Given the description of an element on the screen output the (x, y) to click on. 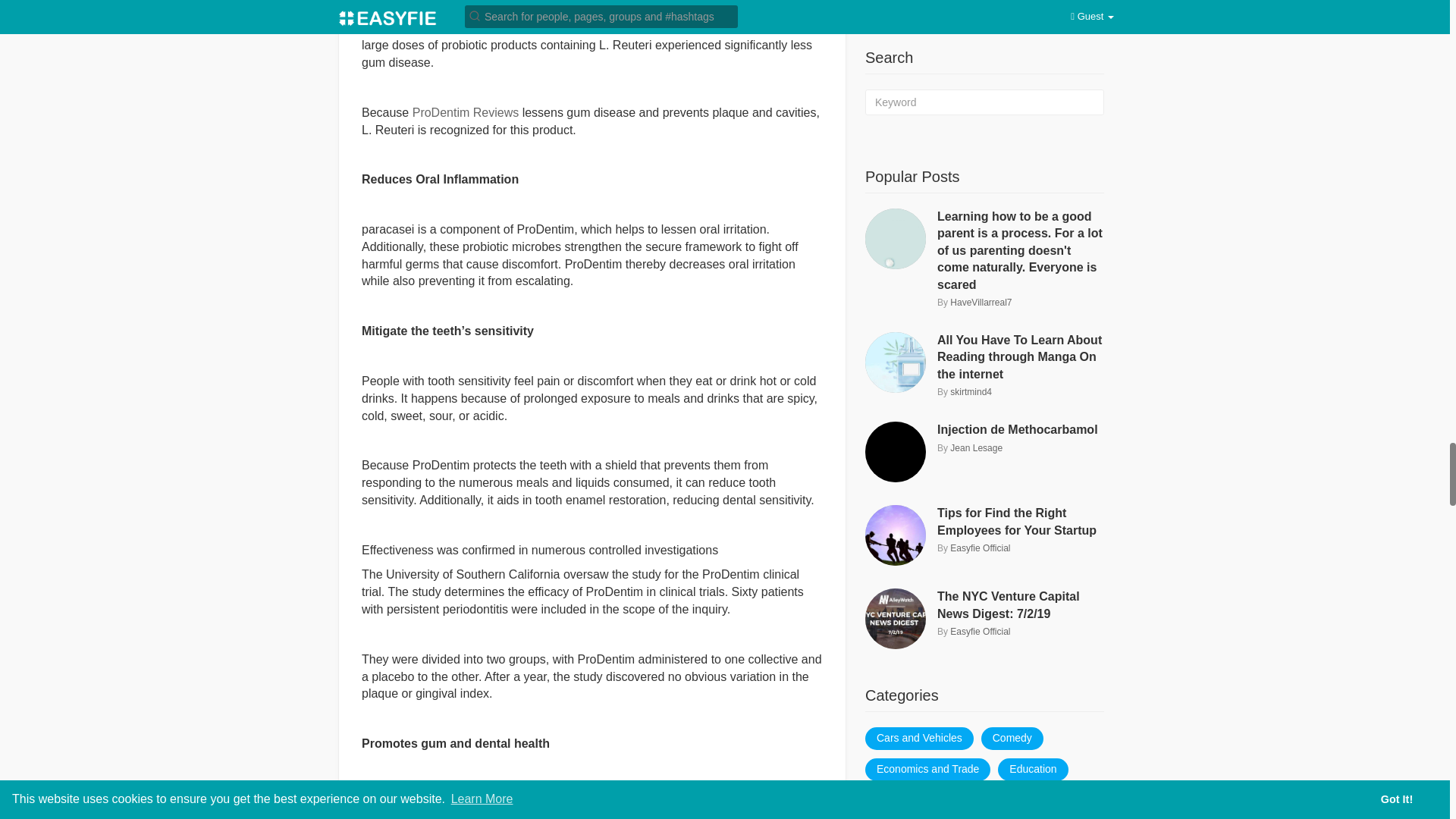
ProDentim Reviews (465, 112)
